Given the description of an element on the screen output the (x, y) to click on. 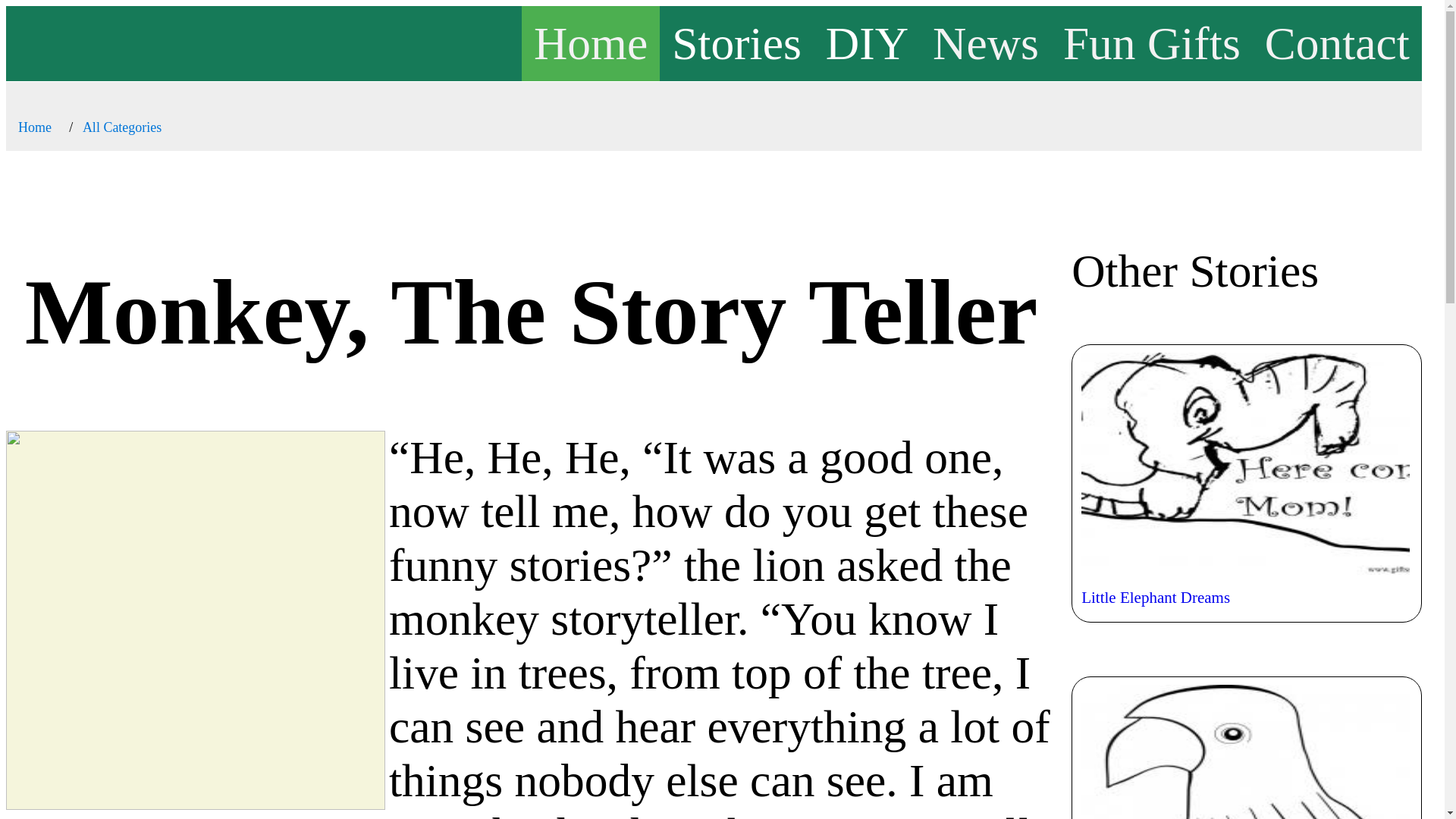
Stories (736, 43)
All Categories (121, 127)
Home (33, 127)
News (985, 43)
Fun Gifts (1151, 43)
Home (590, 43)
DIY (866, 43)
